Given the description of an element on the screen output the (x, y) to click on. 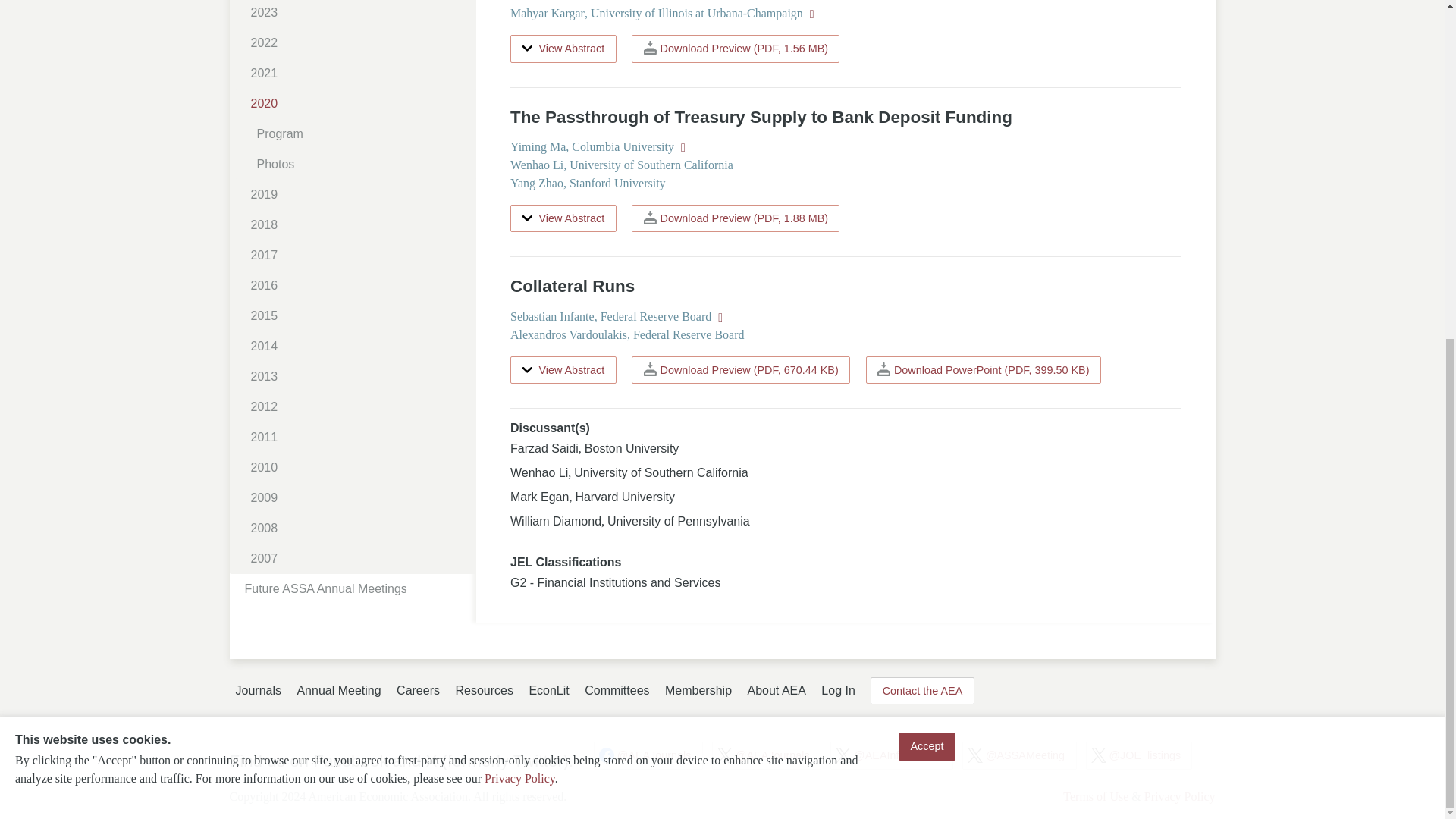
2023 (358, 13)
View Abstract (563, 49)
Accept (926, 172)
Privacy Policy (519, 205)
View Abstract (563, 370)
View Abstract (563, 218)
